Given the description of an element on the screen output the (x, y) to click on. 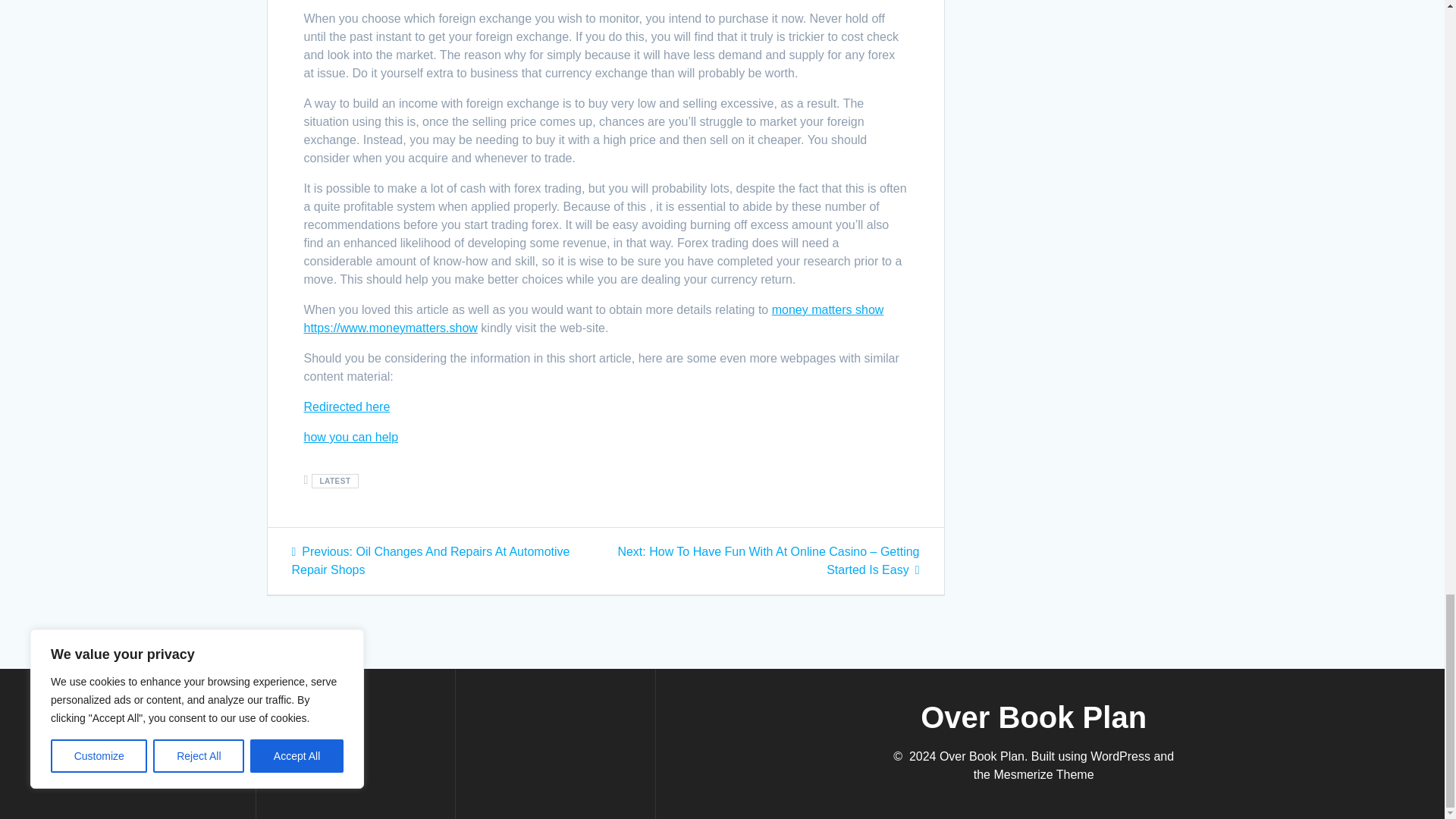
how you can help (349, 436)
LATEST (334, 481)
Redirected here (346, 406)
